Given the description of an element on the screen output the (x, y) to click on. 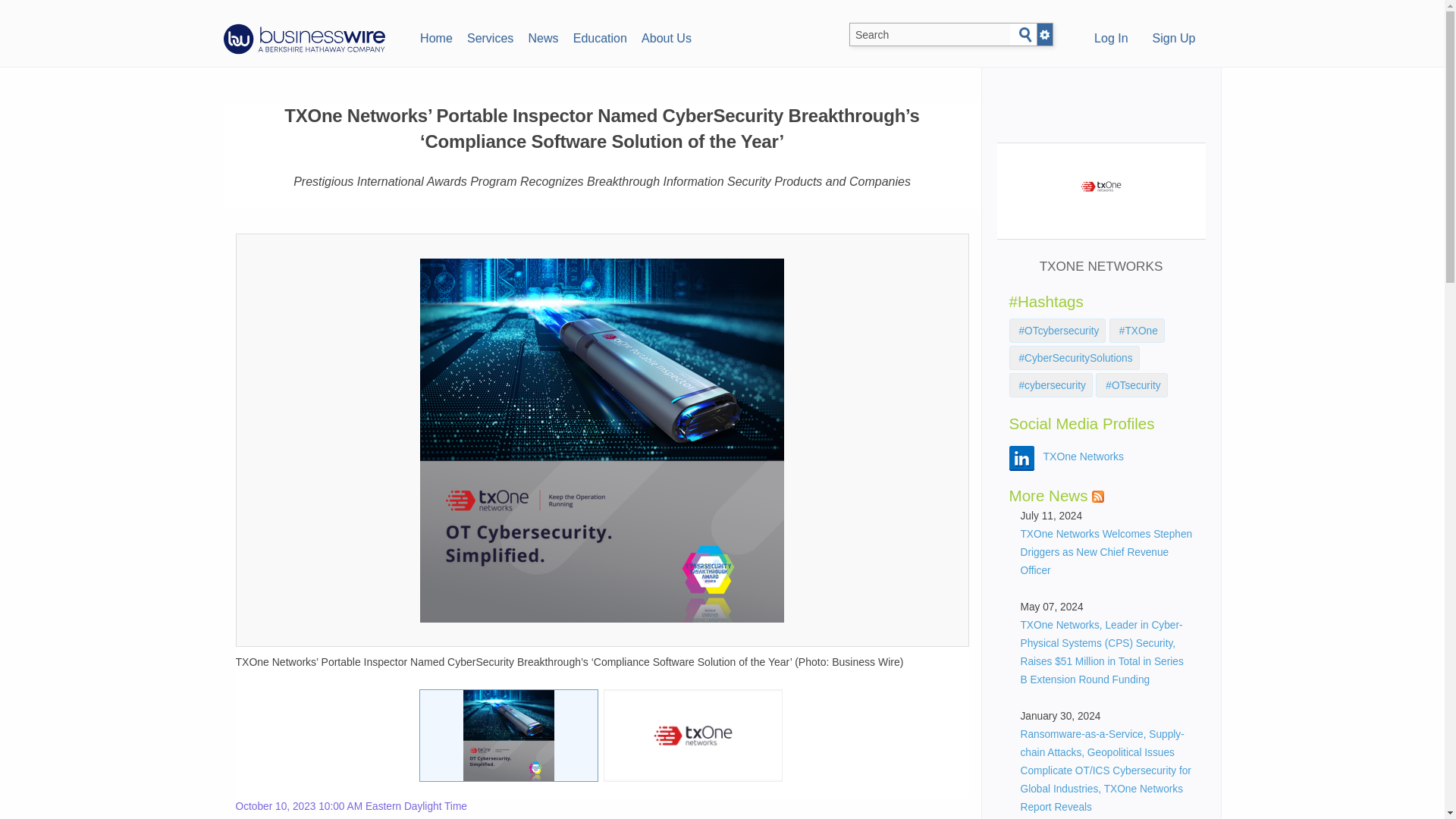
RSS feed for TXOne Networks (1097, 496)
TXOne Networks (1083, 456)
